Given the description of an element on the screen output the (x, y) to click on. 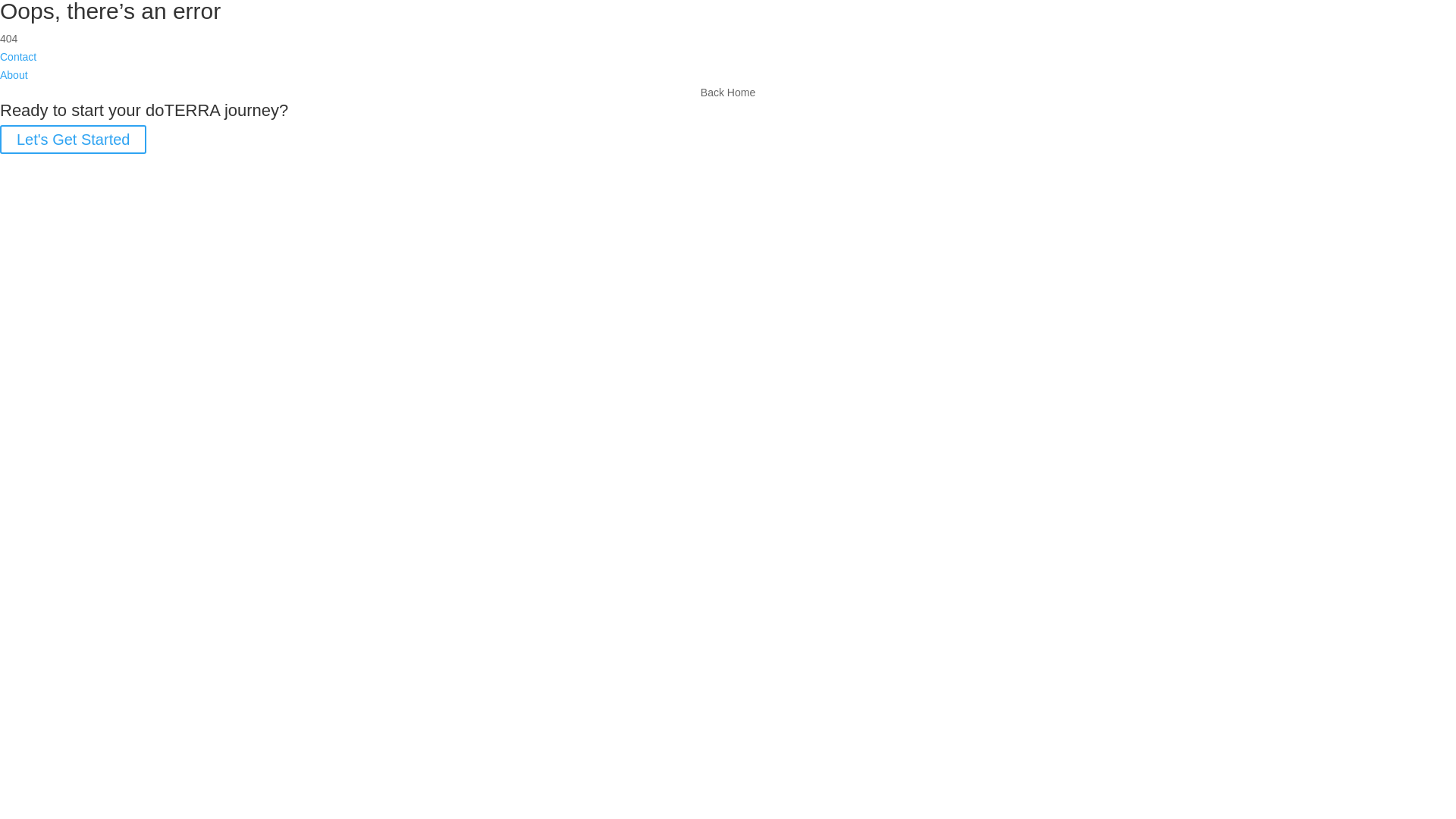
Let's Get Started Element type: text (73, 139)
Contact Element type: text (18, 56)
About Element type: text (14, 75)
